Given the description of an element on the screen output the (x, y) to click on. 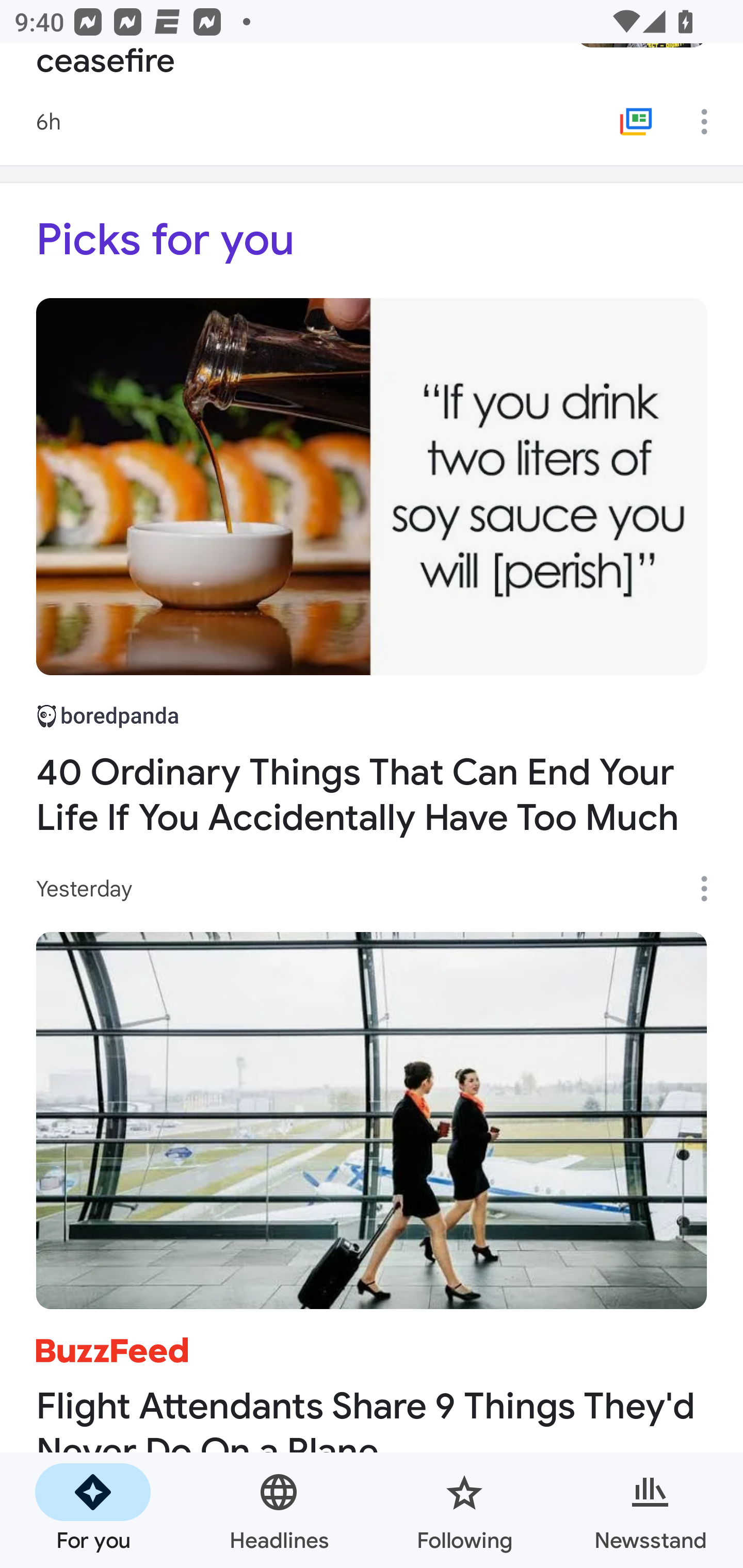
More options (711, 121)
More options (711, 888)
For you (92, 1509)
Headlines (278, 1509)
Following (464, 1509)
Newsstand (650, 1509)
